Given the description of an element on the screen output the (x, y) to click on. 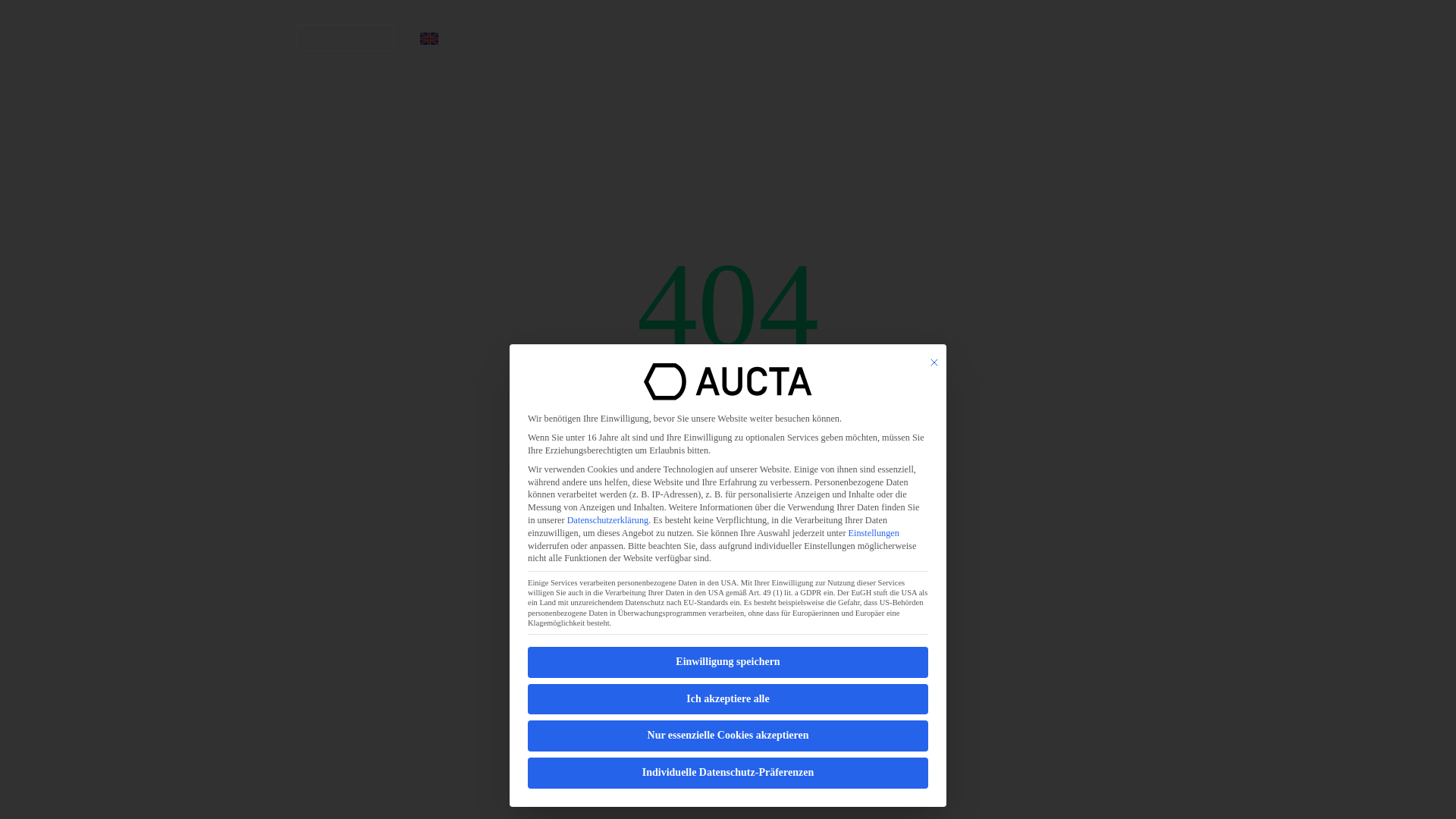
Termin buchen (722, 38)
Einstellungen (873, 532)
Nur essenzielle Cookies akzeptieren (727, 735)
Einwilligung speichern (727, 662)
Ich akzeptiere alle (727, 698)
Termin buchen (345, 37)
Zur Startseite (727, 579)
